Given the description of an element on the screen output the (x, y) to click on. 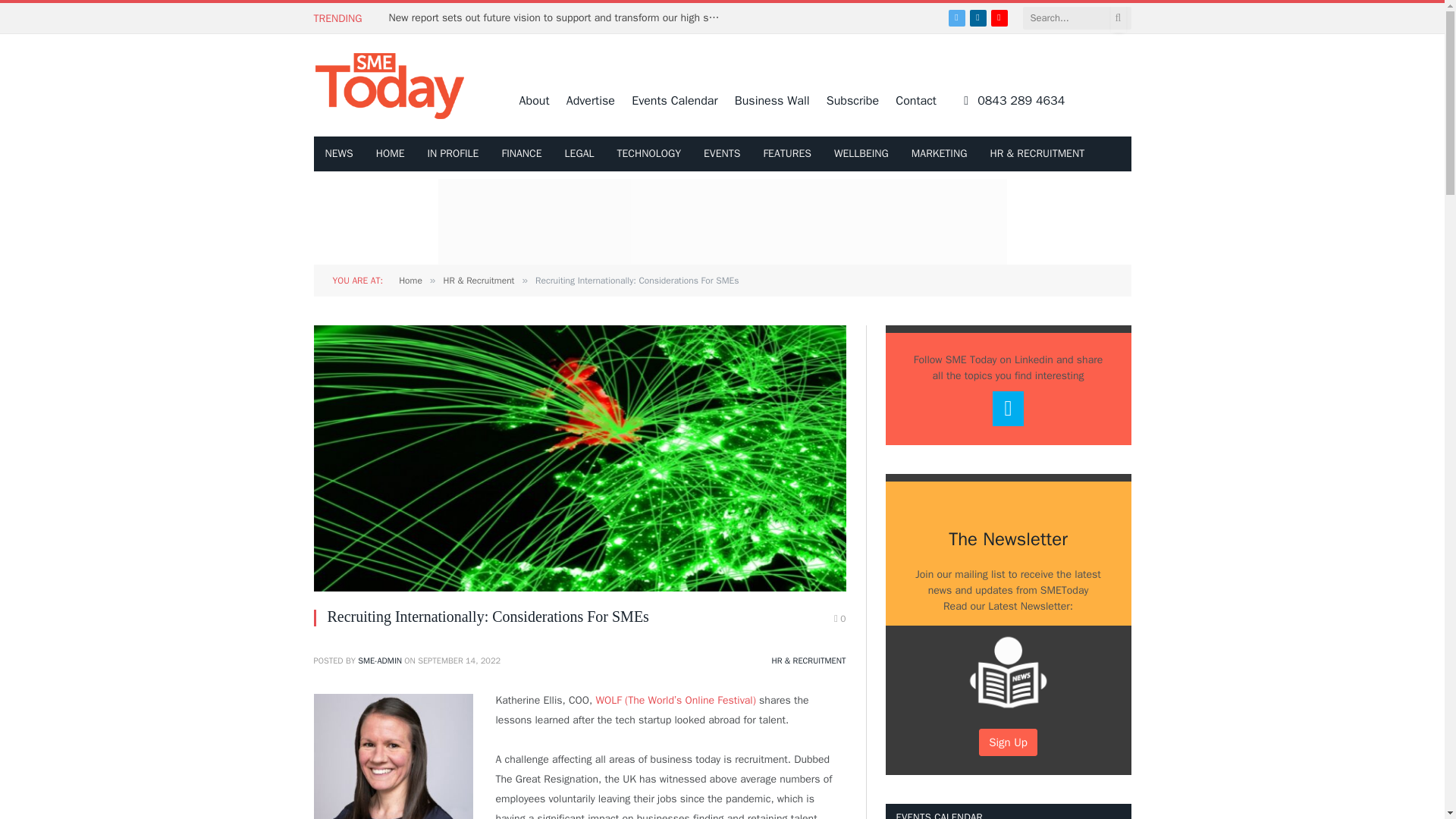
Posts by sme-admin (379, 660)
Advertise (590, 99)
LinkedIn (978, 17)
SME Today (389, 85)
Subscribe (853, 99)
About (534, 99)
YouTube (999, 17)
Business Wall (772, 99)
